Given the description of an element on the screen output the (x, y) to click on. 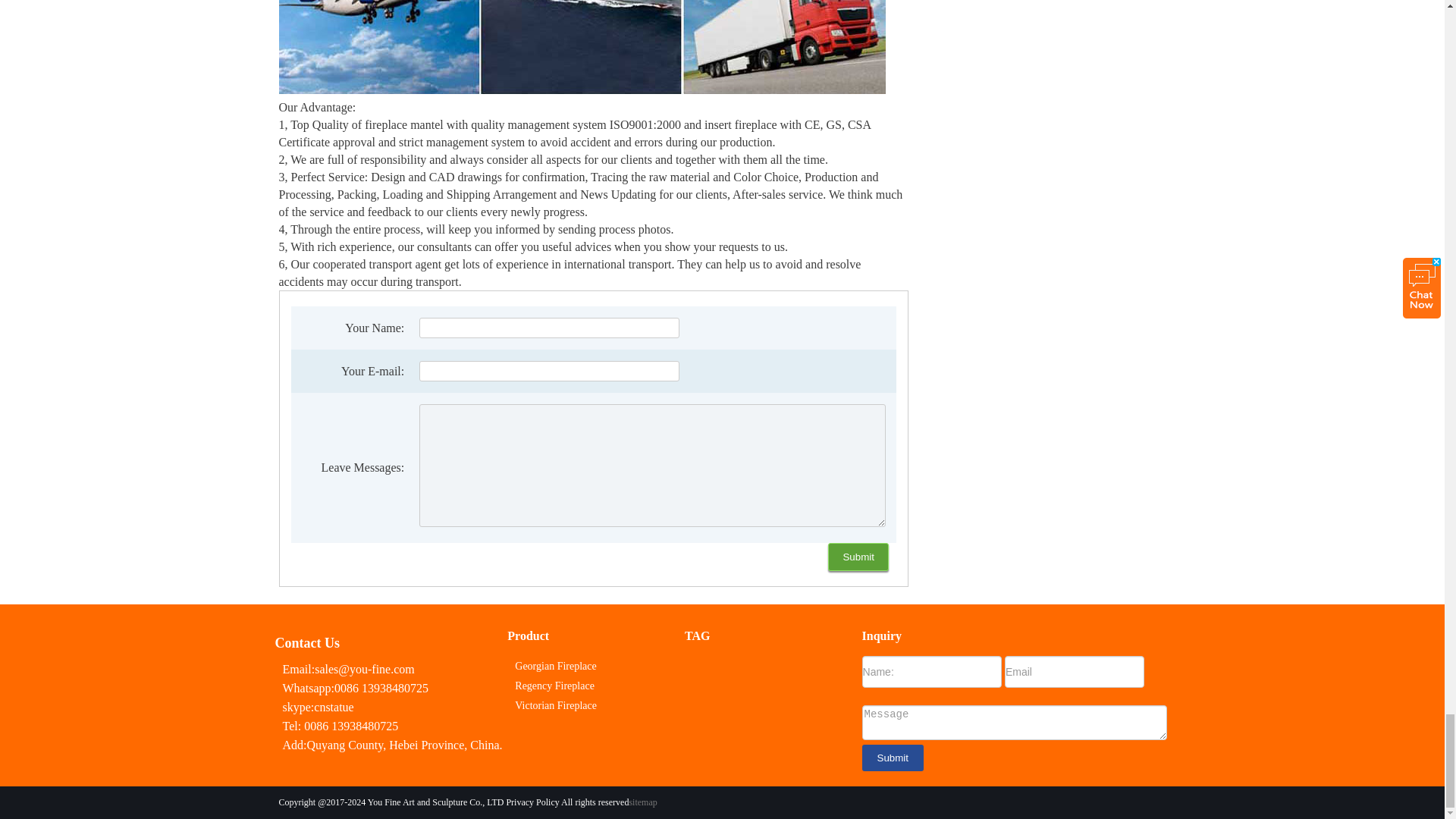
Submit (858, 556)
Submit (892, 757)
Submit (858, 556)
